Given the description of an element on the screen output the (x, y) to click on. 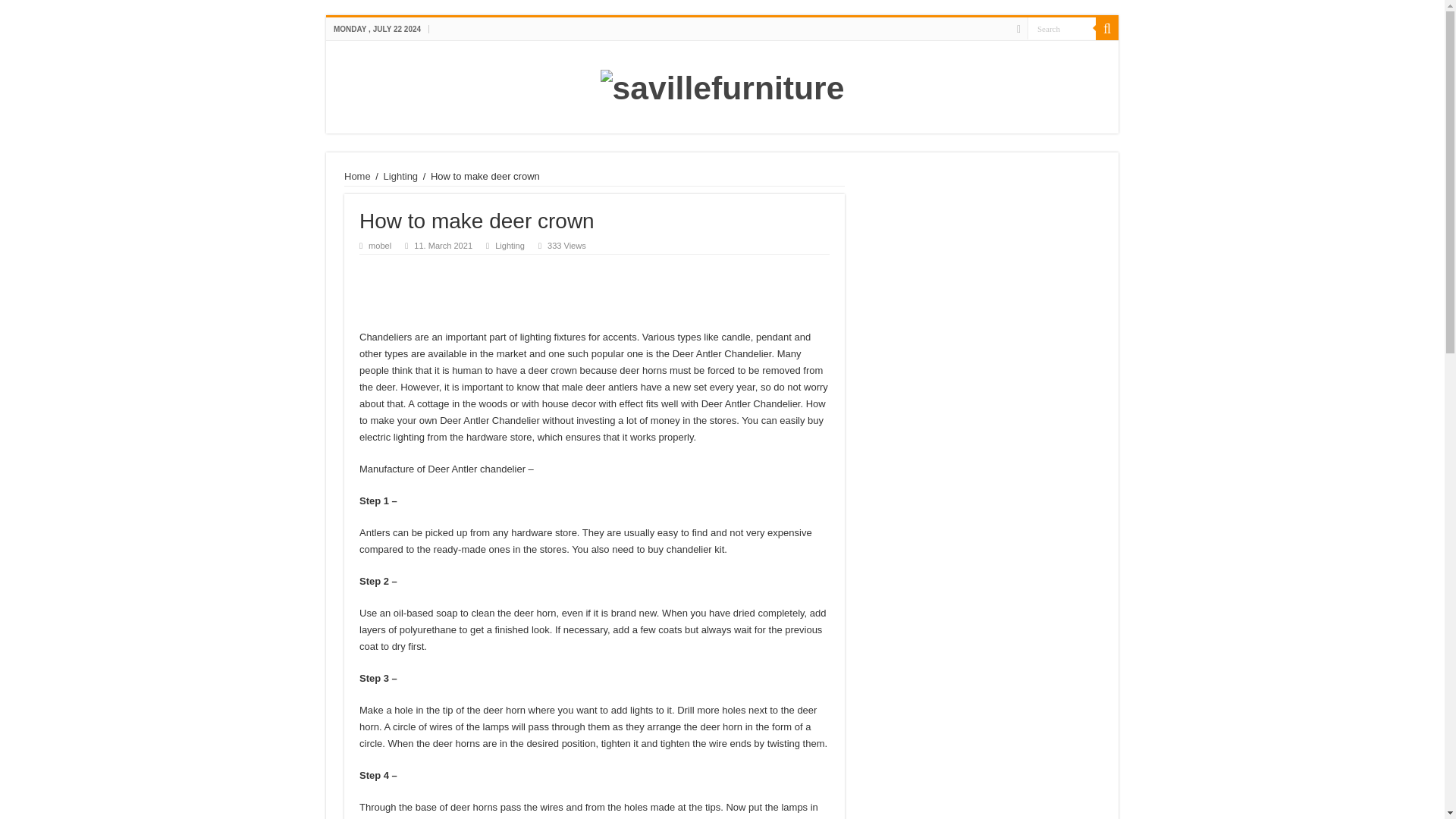
Lighting (401, 175)
Search (1061, 28)
mobel (379, 245)
Search (1061, 28)
savillefurniture (721, 85)
Home (357, 175)
Lighting (509, 245)
Search (1107, 28)
Search (1061, 28)
